Given the description of an element on the screen output the (x, y) to click on. 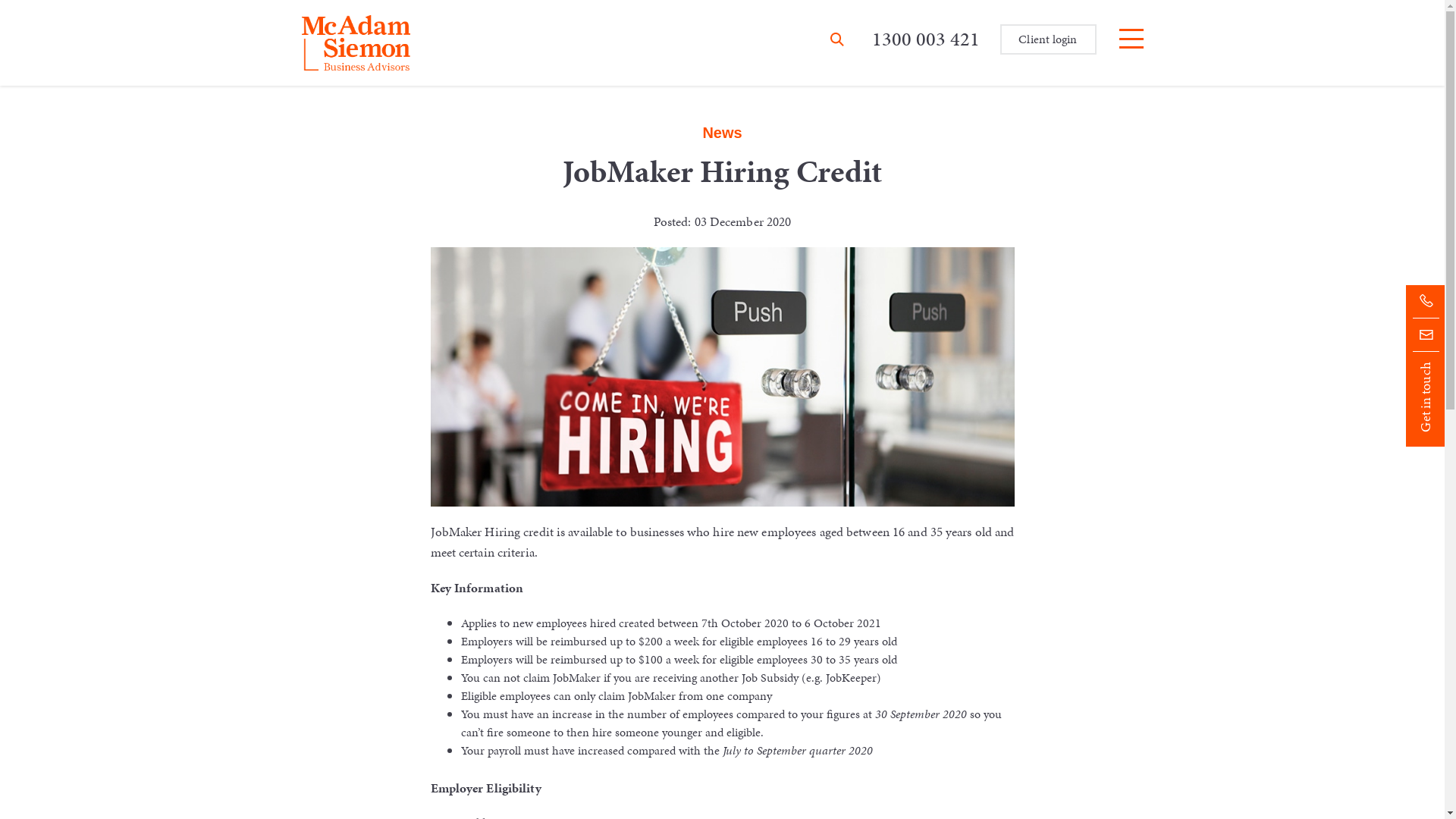
1300 003 421 Element type: text (925, 38)
Client login Element type: text (1047, 39)
